Given the description of an element on the screen output the (x, y) to click on. 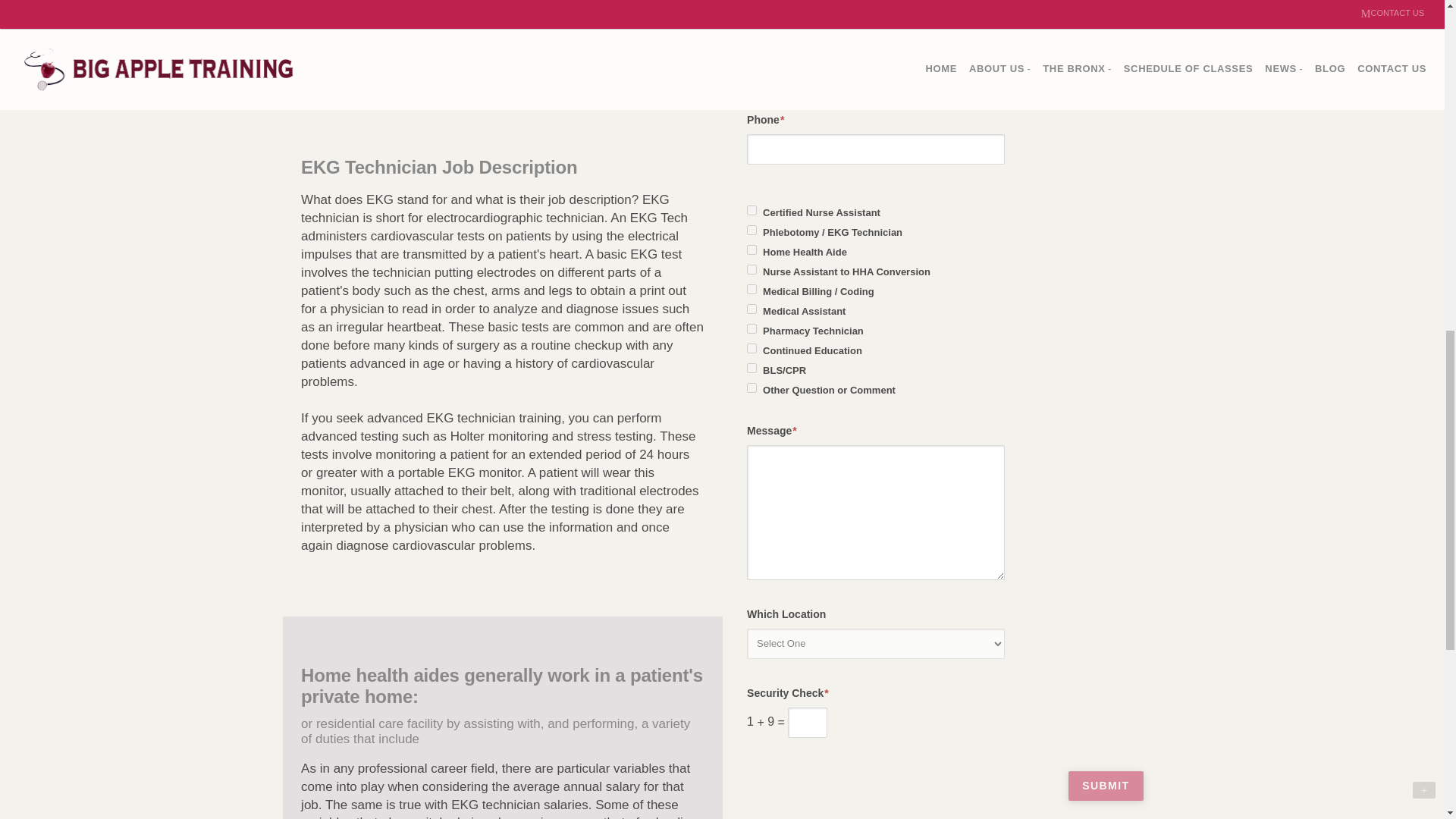
First Choice (751, 210)
Second Choice (751, 230)
choice7 (751, 269)
choice11 (751, 347)
Submit (1105, 785)
choice10 (751, 368)
Third Choice (751, 249)
choice4 (751, 328)
choice5 (751, 308)
choice9 (751, 388)
